Given the description of an element on the screen output the (x, y) to click on. 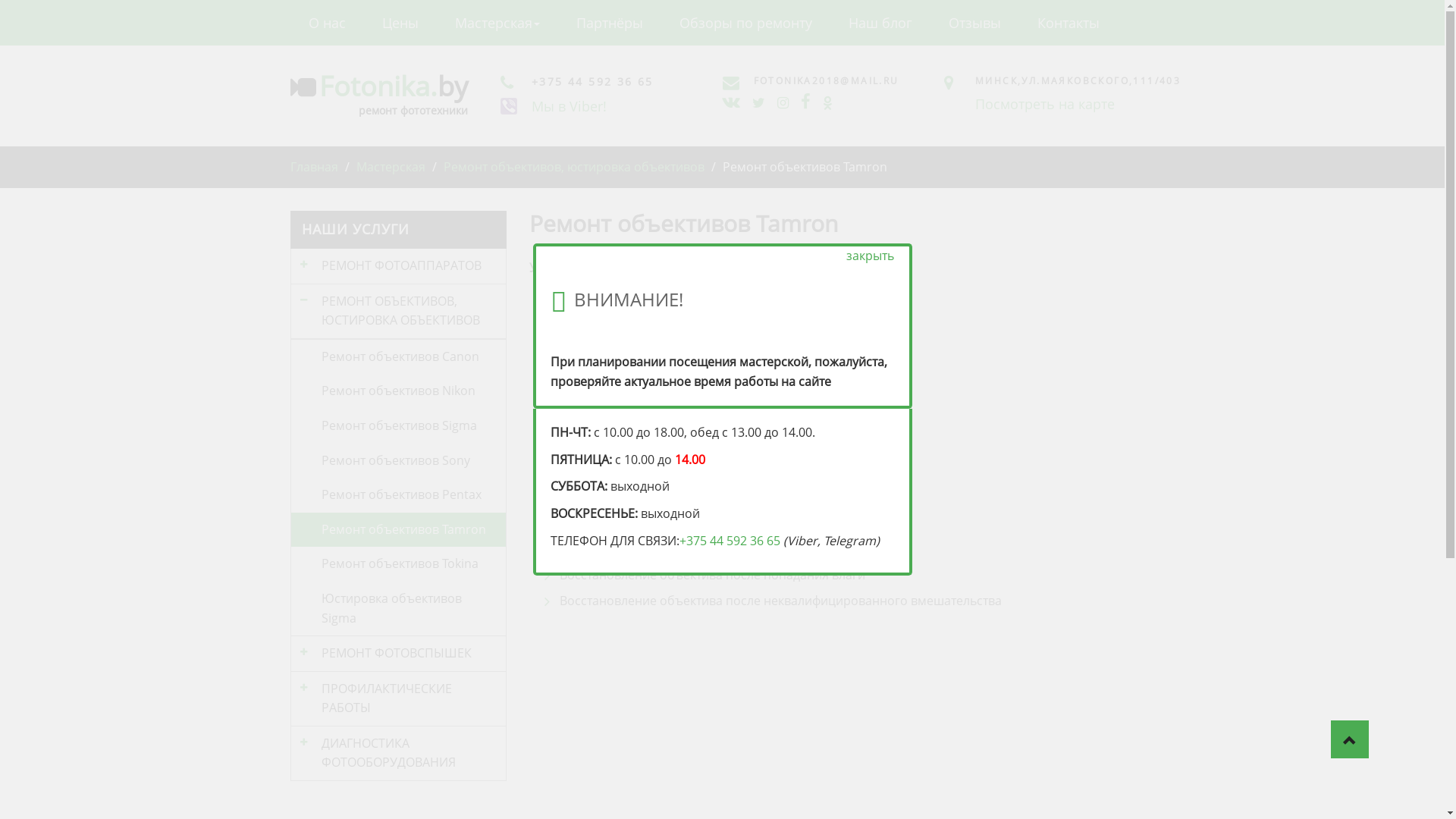
+375 44 592 36 65 Element type: text (729, 540)
